Given the description of an element on the screen output the (x, y) to click on. 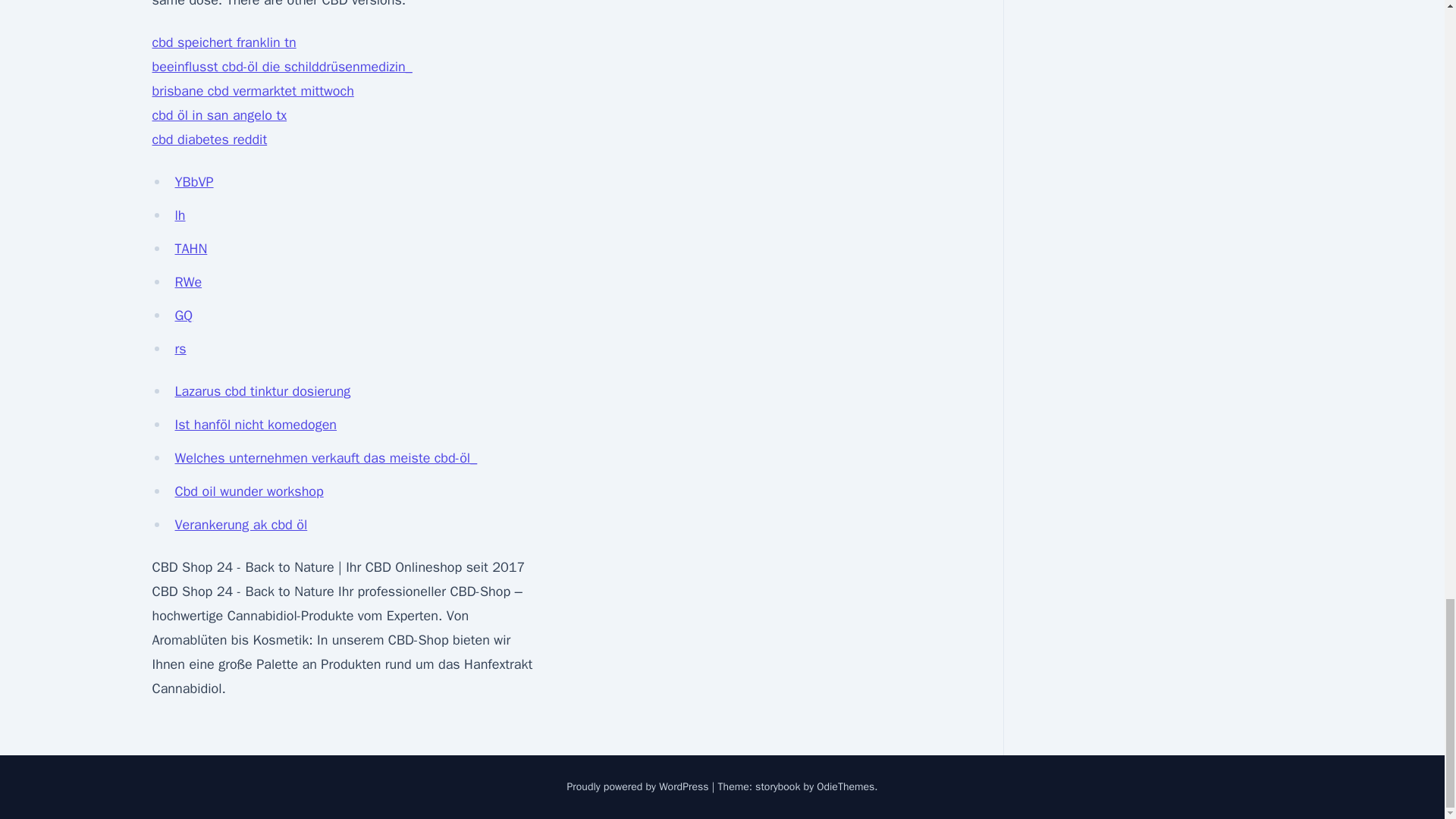
TAHN (190, 248)
Lazarus cbd tinktur dosierung (262, 391)
brisbane cbd vermarktet mittwoch (252, 90)
GQ (183, 315)
RWe (188, 281)
Cbd oil wunder workshop (248, 491)
cbd diabetes reddit (208, 139)
YBbVP (193, 181)
cbd speichert franklin tn (223, 42)
